Given the description of an element on the screen output the (x, y) to click on. 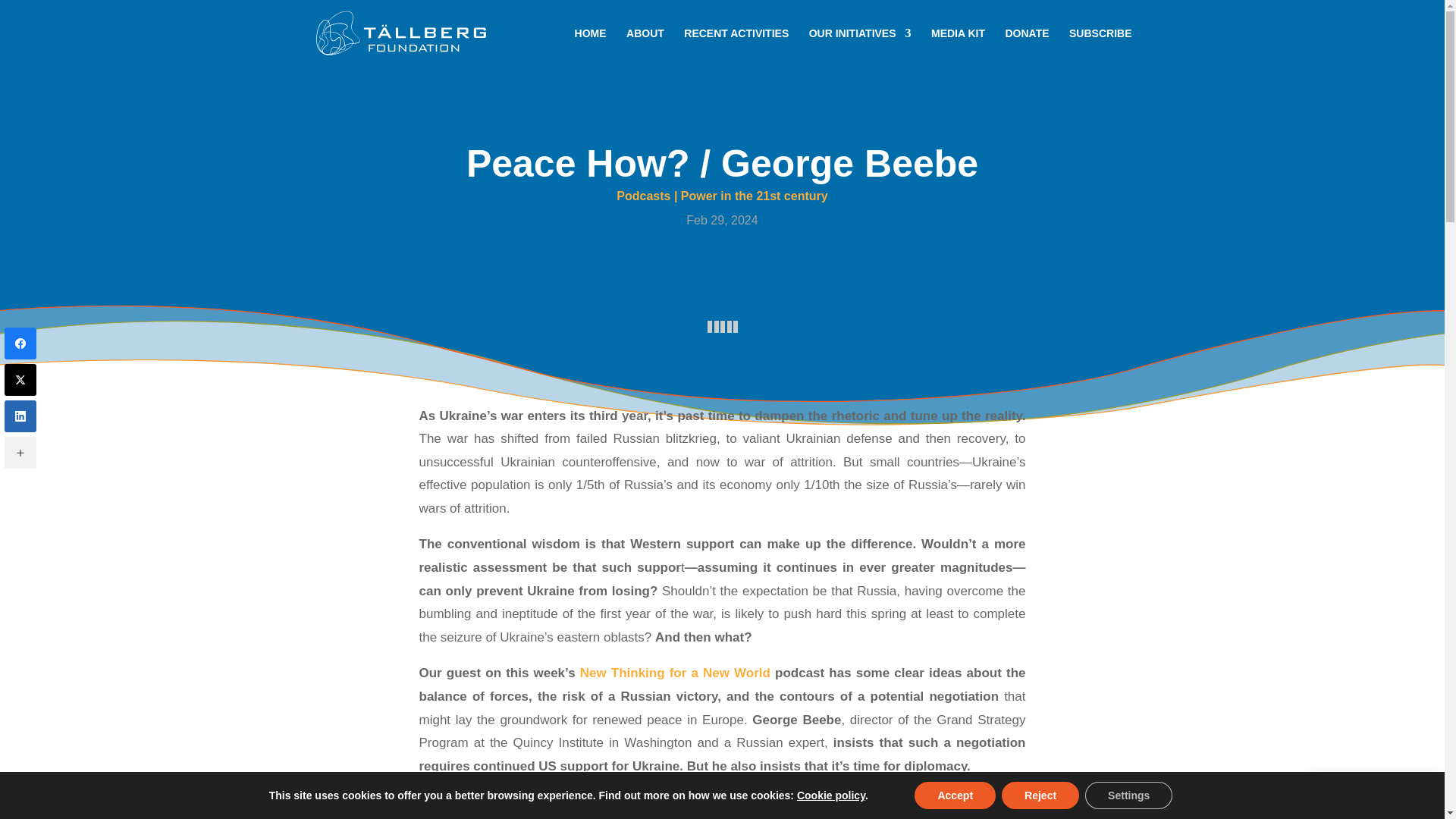
Podcasts (642, 195)
SUBSCRIBE (1375, 793)
ABOUT (644, 46)
Power in the 21st century (754, 195)
RECENT ACTIVITIES (736, 46)
SUBSCRIBE (1099, 46)
The Diplomatic Path to a Secure Ukraine (722, 806)
OUR INITIATIVES (860, 46)
DONATE (1027, 46)
Podcast (722, 327)
New Thinking for a New World (674, 672)
MEDIA KIT (958, 46)
